Given the description of an element on the screen output the (x, y) to click on. 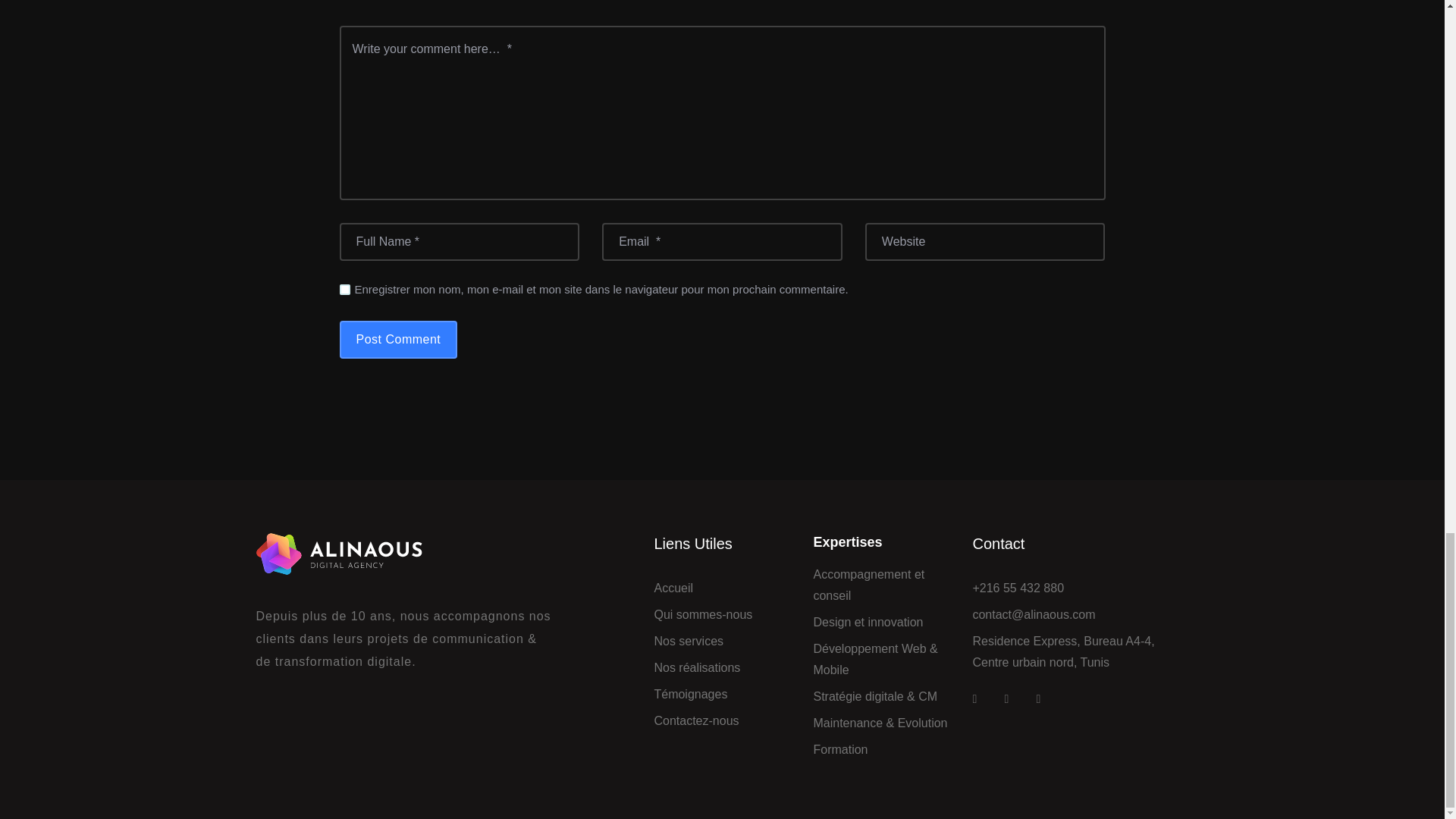
Accompagnement et conseil (880, 585)
ALINAOUS (403, 553)
Post Comment (398, 339)
Contactez-nous (695, 721)
Post Comment (398, 339)
Qui sommes-nous (702, 614)
Formation (839, 749)
Accueil (673, 588)
Design et innovation (867, 622)
Nos services (688, 640)
